Given the description of an element on the screen output the (x, y) to click on. 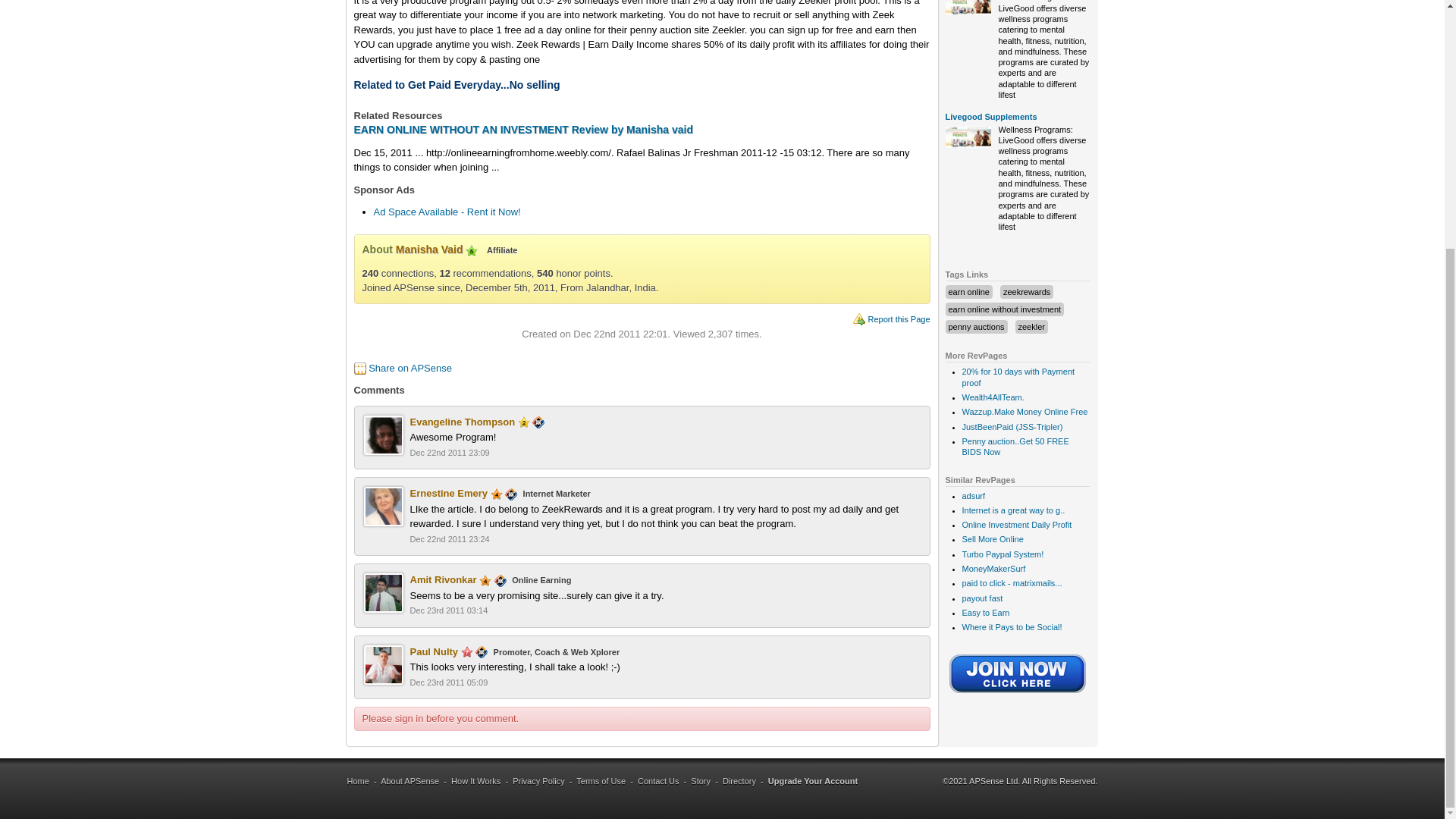
View Business Center (510, 492)
Paul Nulty (433, 651)
Advanced (496, 494)
Join APSense Social Network (1017, 694)
Share on APSense (409, 367)
EARN ONLINE WITHOUT AN INVESTMENT Review by Manisha vaid (523, 129)
View Business Center (500, 579)
Evangeline Thompson (462, 421)
Freshman (523, 422)
Advanced (485, 580)
Report this Page (898, 318)
Ernestine Emery (448, 492)
Amit Rivonkar (442, 579)
Share on APSense (409, 367)
Manisha Vaid (429, 249)
